Given the description of an element on the screen output the (x, y) to click on. 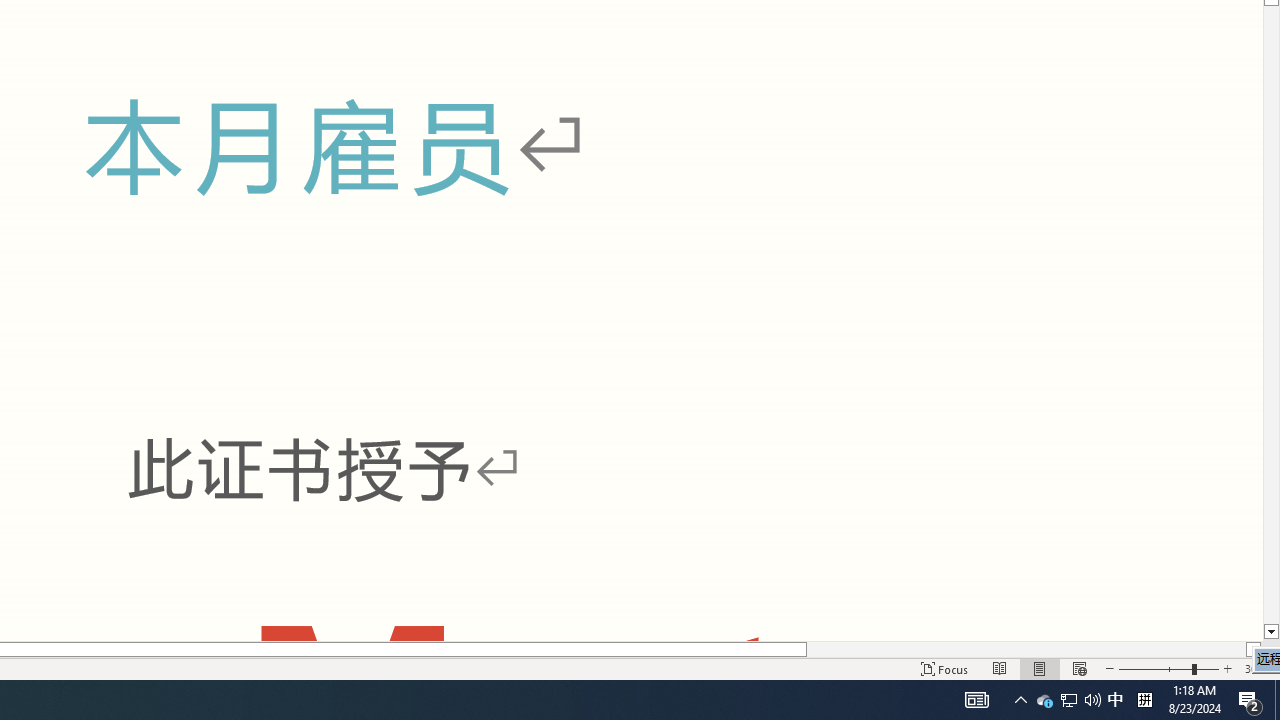
Column right (1254, 649)
Page right (1025, 649)
Page down (1271, 314)
Line down (1271, 632)
Zoom 308% (1258, 668)
